Given the description of an element on the screen output the (x, y) to click on. 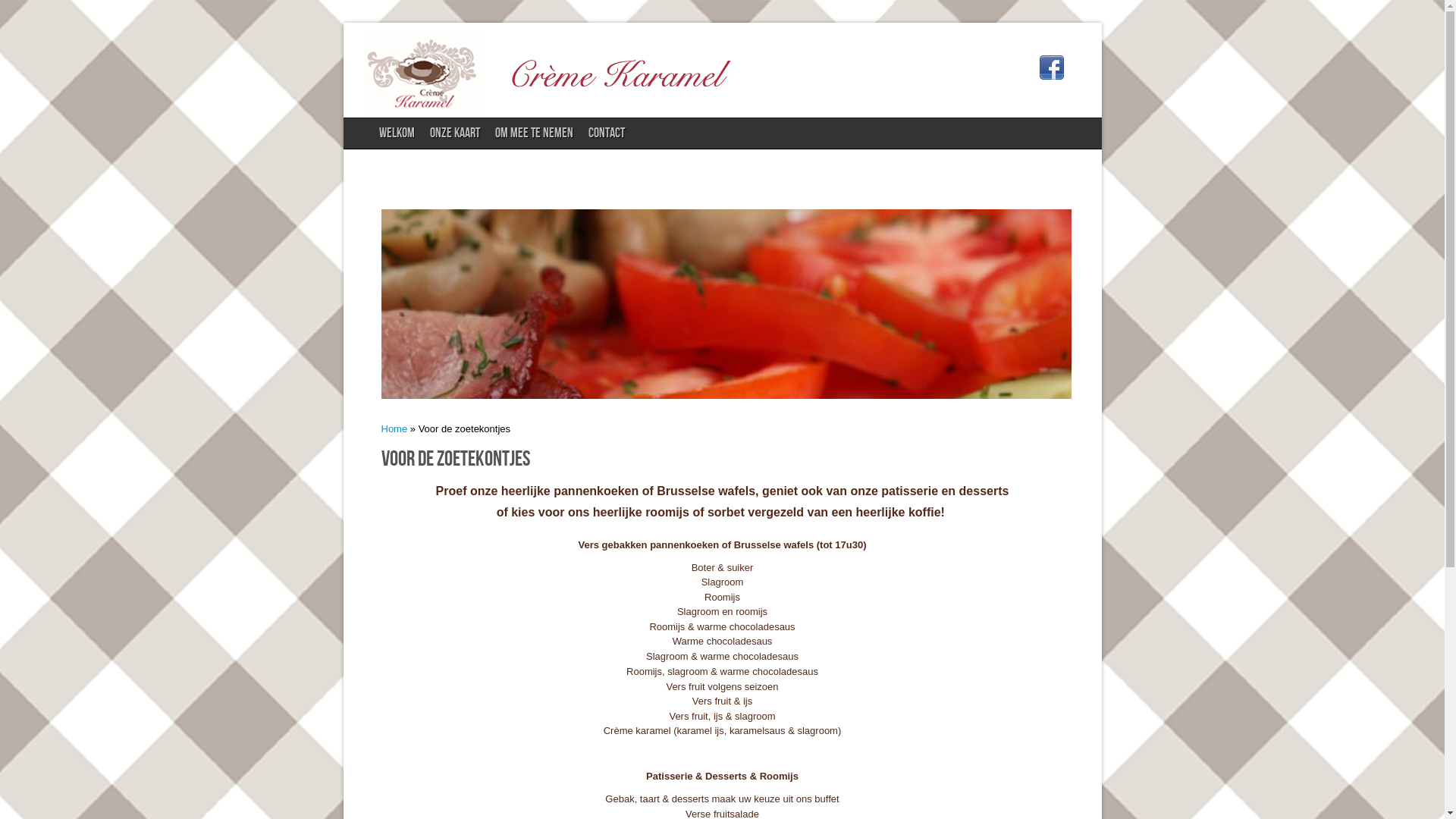
OM MEE TE NEMEN Element type: text (533, 133)
CONTACT Element type: text (606, 133)
WELKOM Element type: text (396, 133)
Home Element type: text (393, 428)
ONZE KAART Element type: text (454, 133)
